Given the description of an element on the screen output the (x, y) to click on. 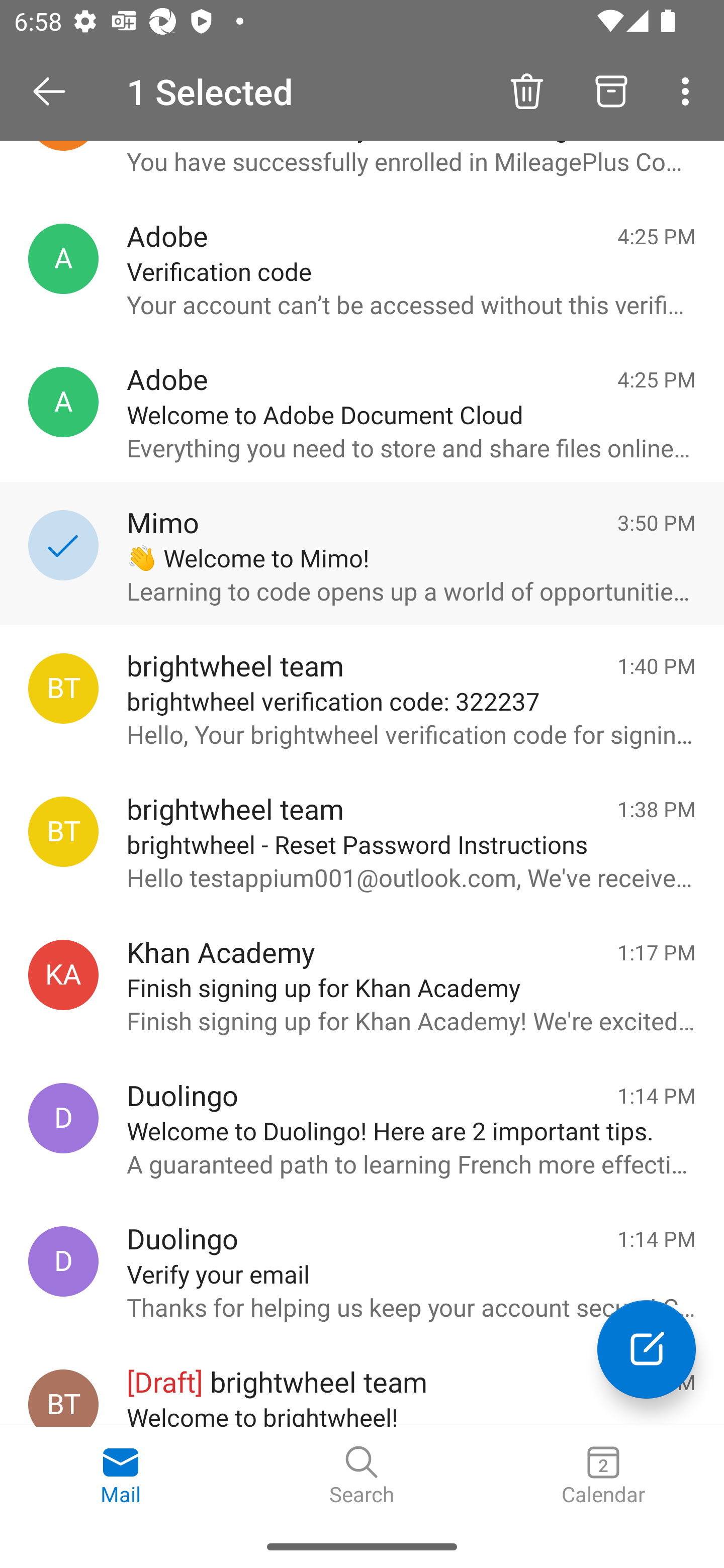
Delete (526, 90)
Archive (611, 90)
More options (688, 90)
Open Navigation Drawer (55, 91)
Adobe, message@adobe.com (63, 259)
Adobe, message@adobe.com (63, 401)
brightwheel team, recovery@mybrightwheel.com (63, 688)
brightwheel team, recovery@mybrightwheel.com (63, 831)
Khan Academy, no-reply@khanacademy.org (63, 974)
Duolingo, hello@duolingo.com (63, 1118)
Duolingo, hello@duolingo.com (63, 1261)
Compose (646, 1348)
brightwheel team, welcome@mybrightwheel.com (63, 1397)
Search (361, 1475)
Calendar (603, 1475)
